Given the description of an element on the screen output the (x, y) to click on. 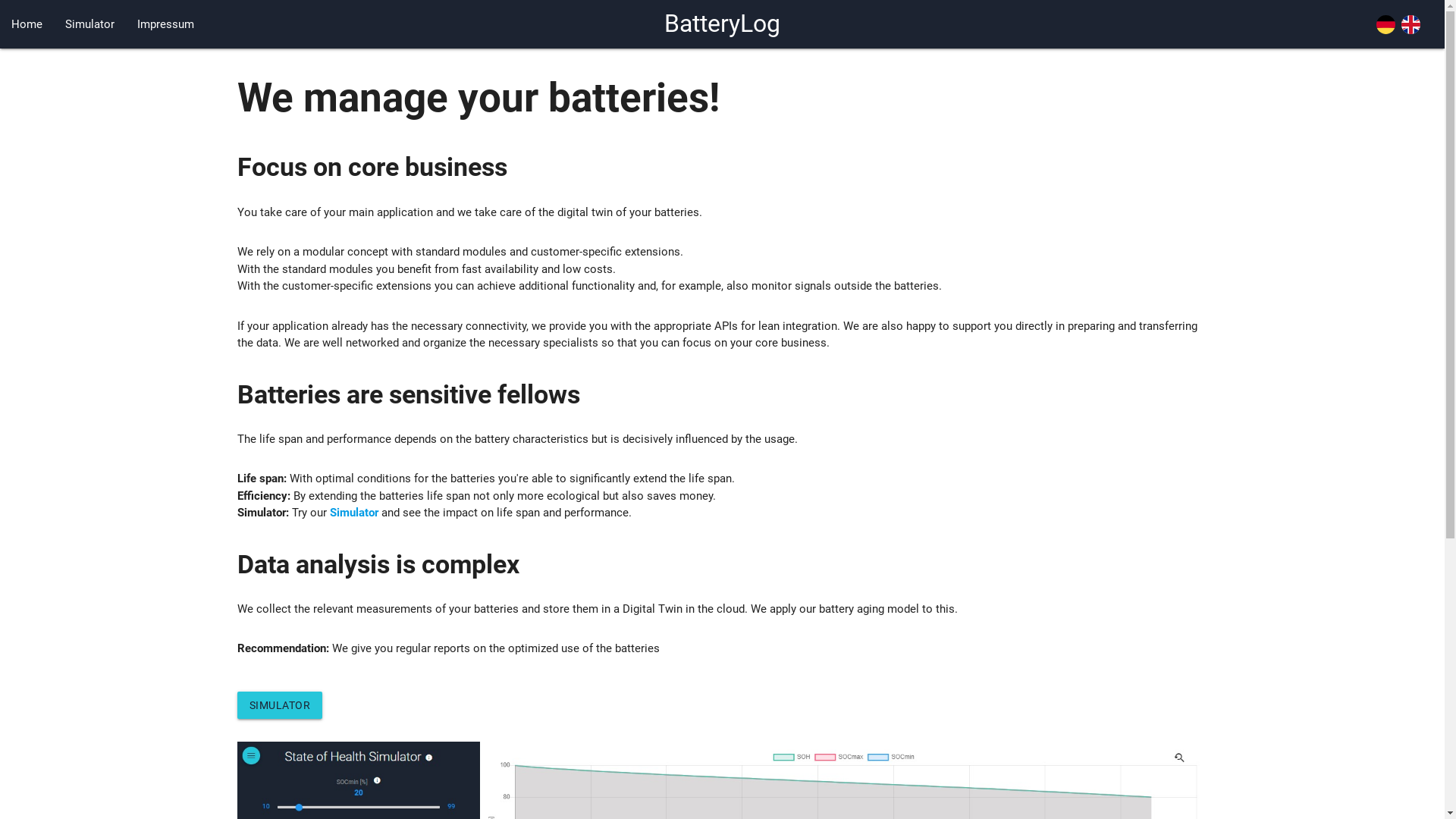
Simulator Element type: text (353, 512)
Home Element type: text (26, 24)
BatteryLog Element type: text (722, 24)
Simulator Element type: text (89, 24)
SIMULATOR Element type: text (279, 704)
Impressum Element type: text (165, 24)
